Given the description of an element on the screen output the (x, y) to click on. 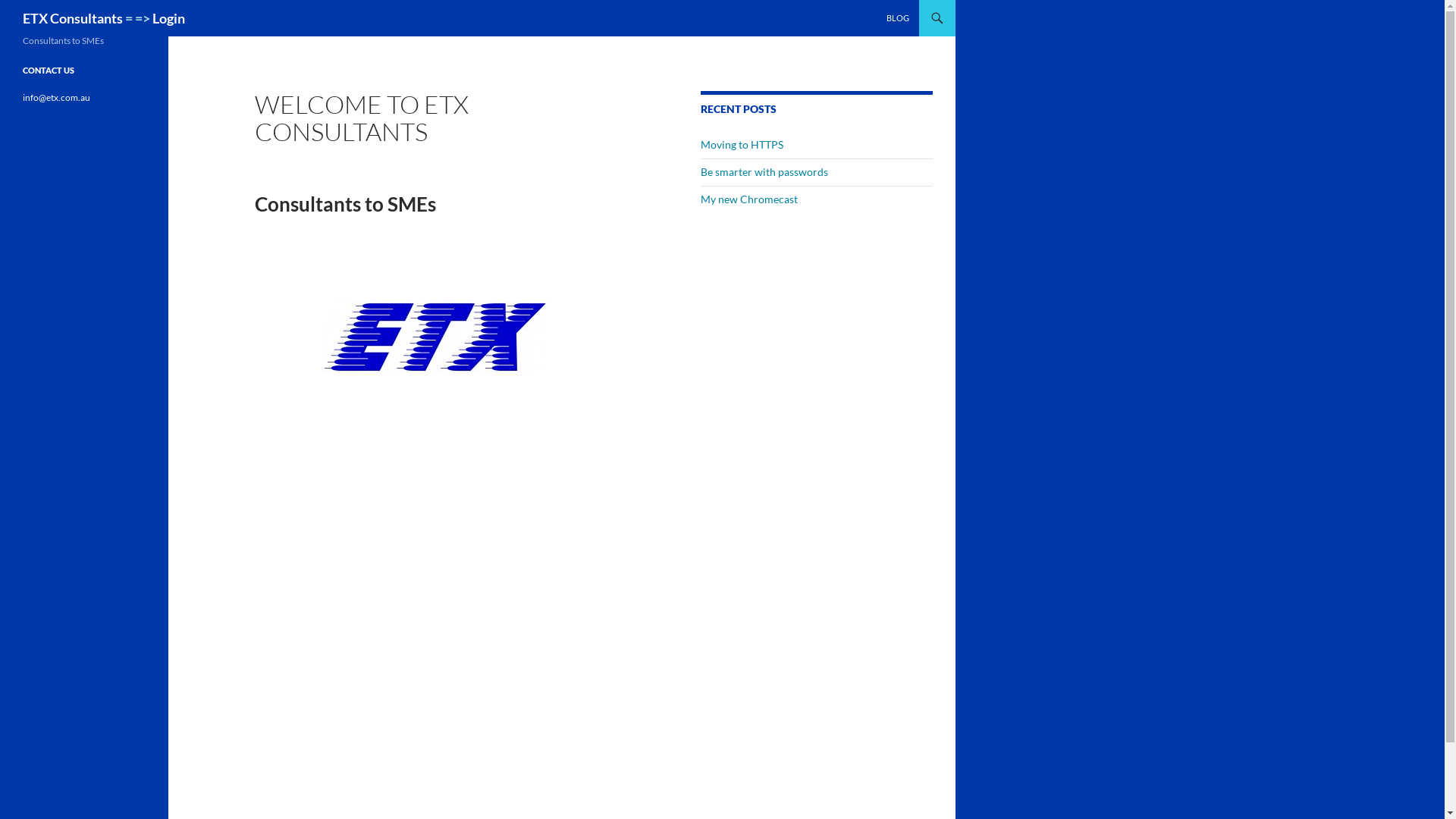
Be smarter with passwords Element type: text (764, 171)
ETX Consultants Element type: text (72, 17)
BLOG Element type: text (897, 18)
info@etx.com.au Element type: text (56, 97)
My new Chromecast Element type: text (748, 198)
Login Element type: text (168, 17)
Moving to HTTPS Element type: text (741, 144)
